Given the description of an element on the screen output the (x, y) to click on. 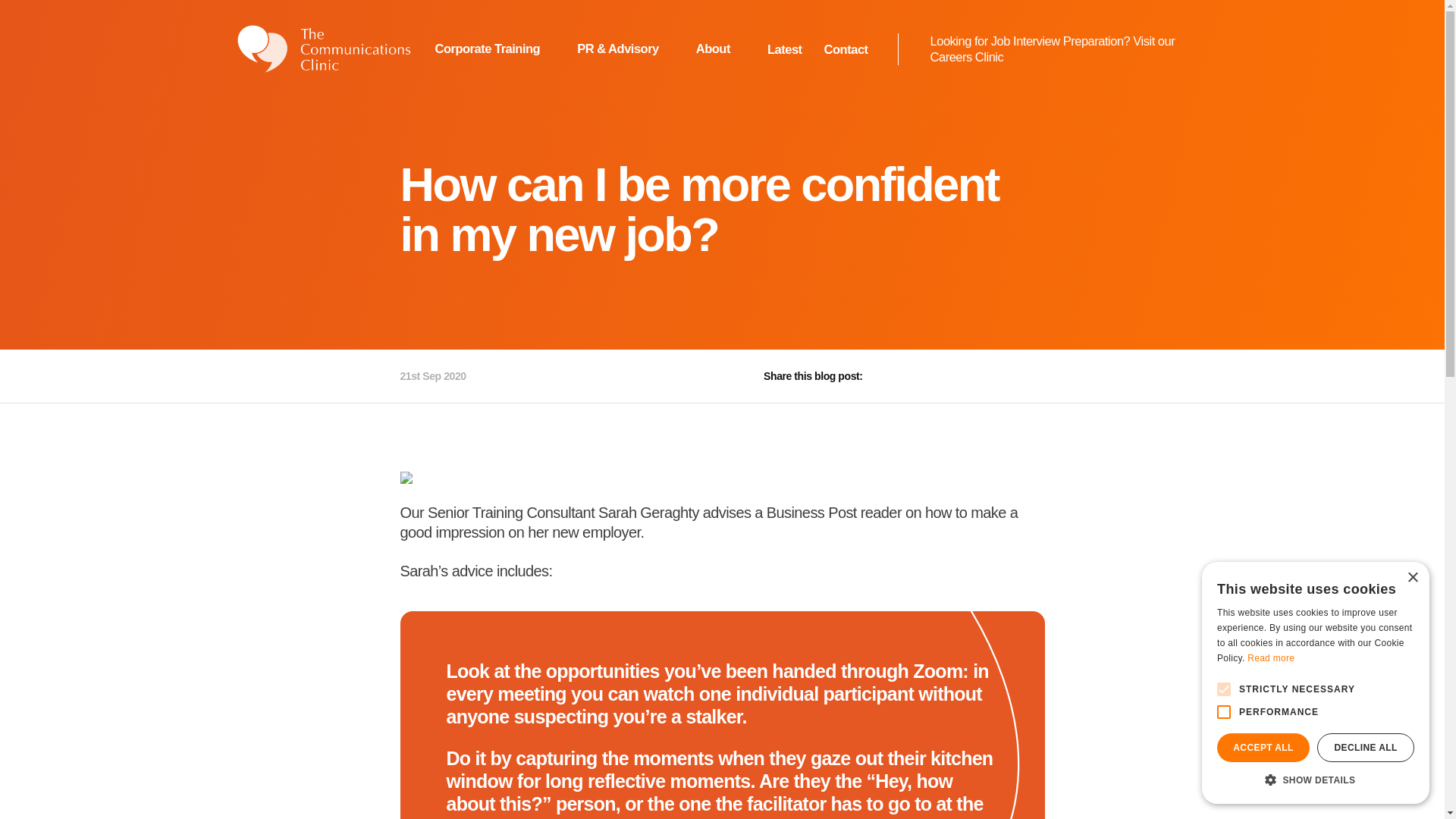
Contact (845, 49)
Facebook (890, 376)
Email (994, 376)
Twitter (925, 376)
LinkedIn (959, 376)
WhatsApp (1029, 376)
Latest (784, 49)
